Given the description of an element on the screen output the (x, y) to click on. 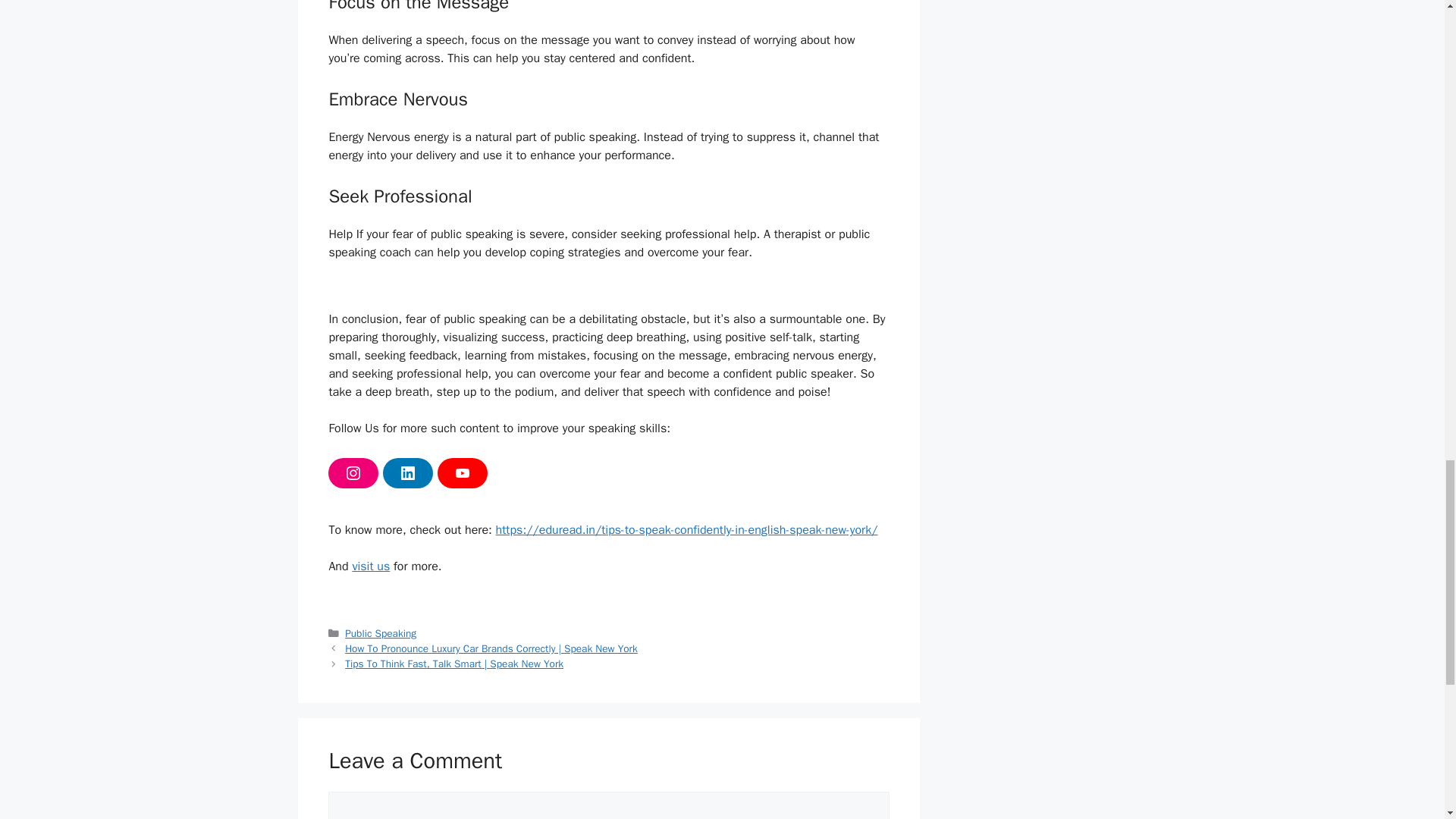
visit us (371, 566)
Instagram (353, 472)
Linkedin (407, 472)
Public Speaking (380, 633)
Instagram (353, 472)
YouTube (462, 472)
YouTube (462, 472)
Linkedin (407, 472)
